Given the description of an element on the screen output the (x, y) to click on. 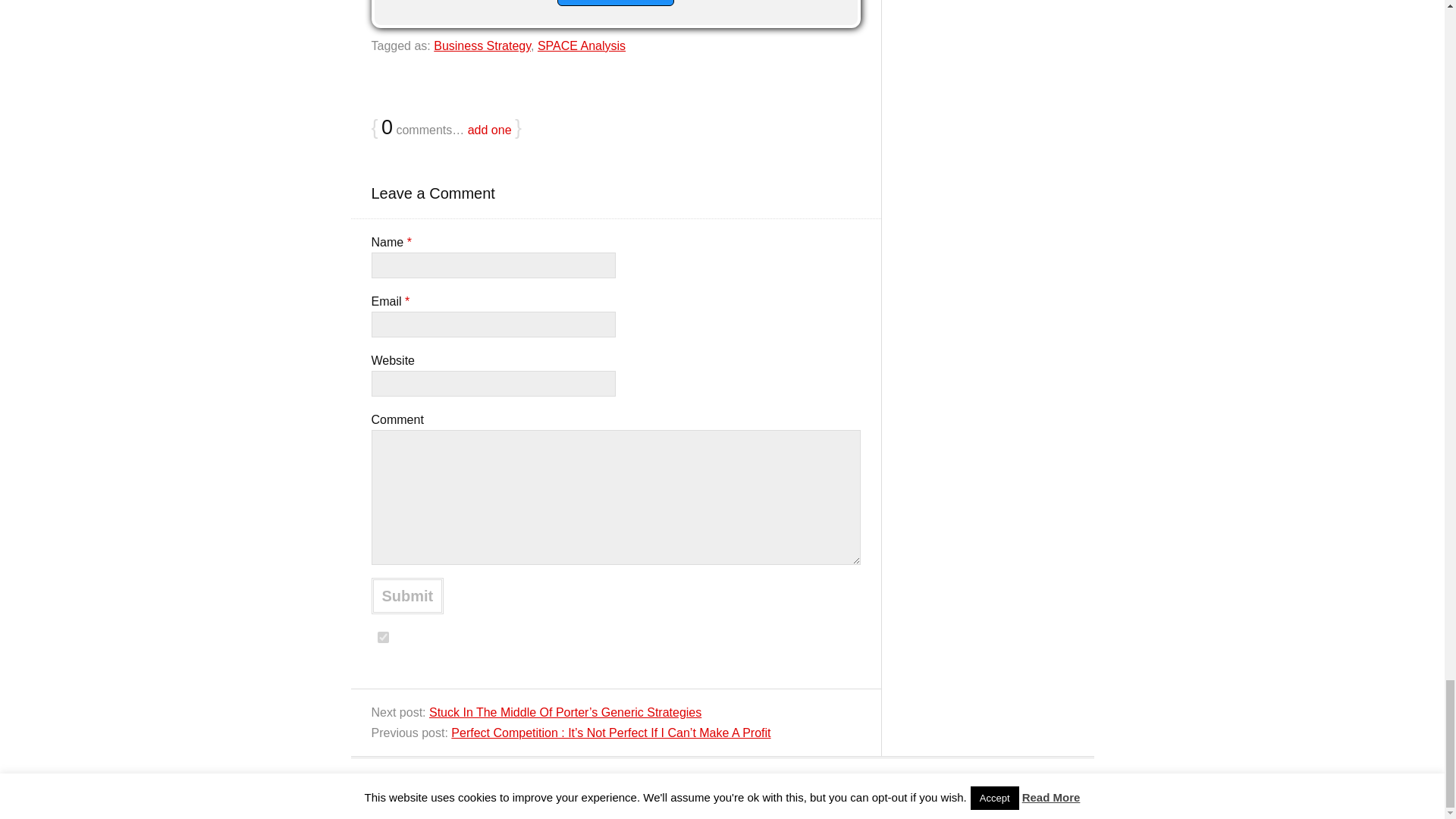
SPACE Analysis (581, 45)
on (382, 636)
Business Strategy (482, 45)
Submit (407, 596)
Submit (407, 596)
add one (489, 129)
Sign Me Up! (614, 2)
